Given the description of an element on the screen output the (x, y) to click on. 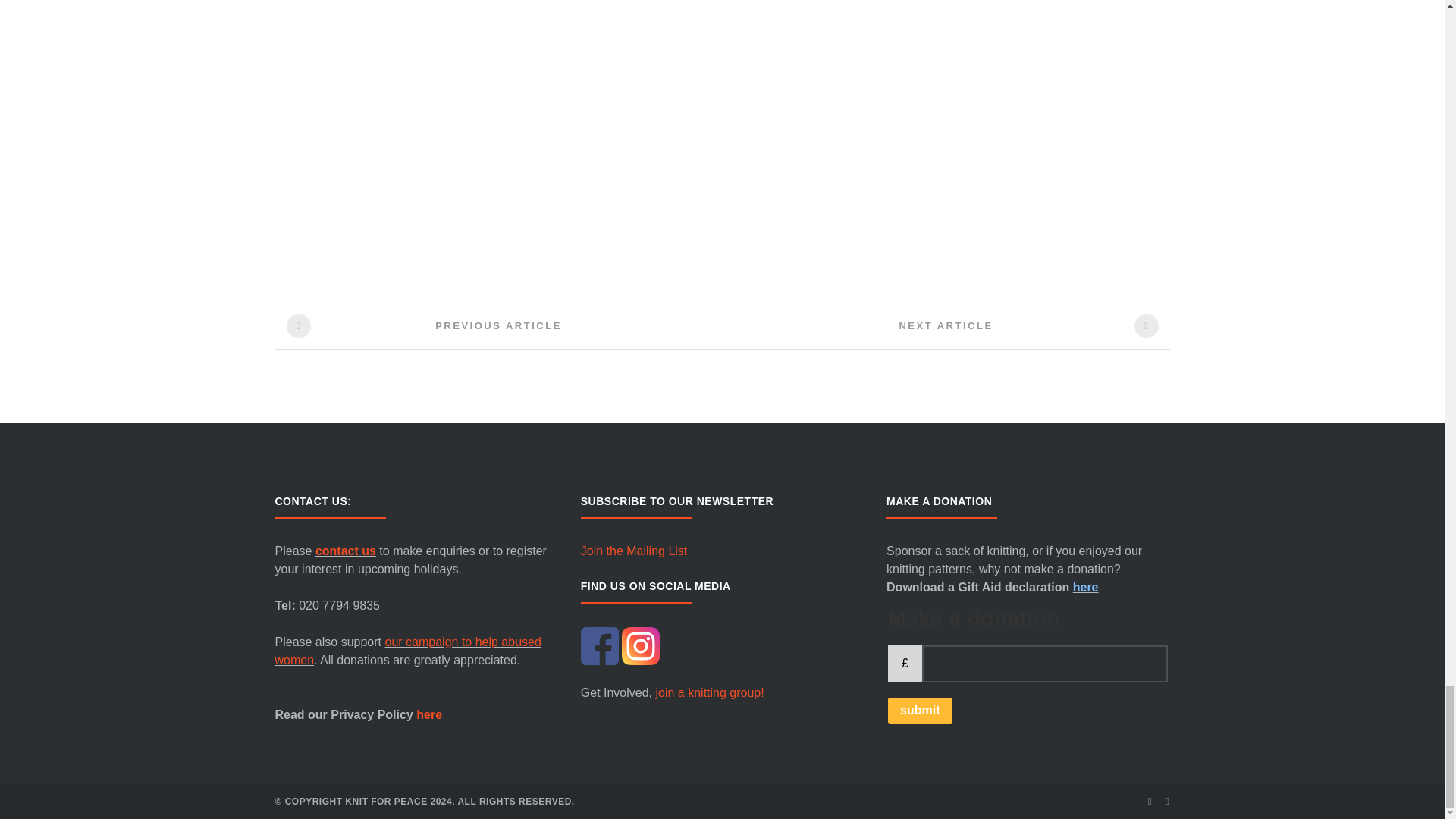
Join the Mailing List (721, 551)
submit (920, 710)
our campaign to help abused women (407, 650)
contact us (345, 550)
here (498, 324)
here (429, 714)
join a knitting group! (1086, 586)
